Given the description of an element on the screen output the (x, y) to click on. 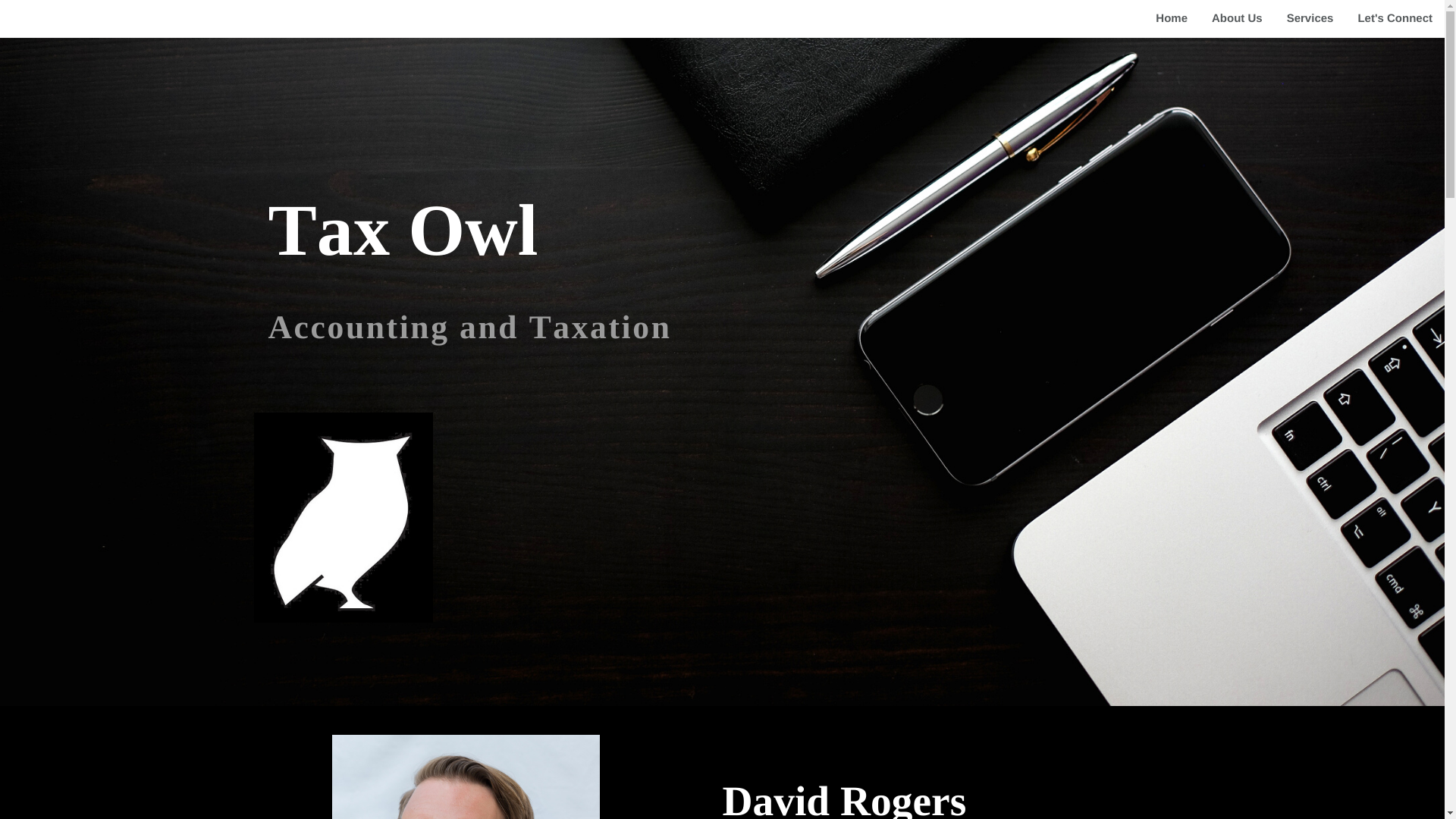
Home (1170, 18)
Services (1310, 18)
About Us (1237, 18)
